Given the description of an element on the screen output the (x, y) to click on. 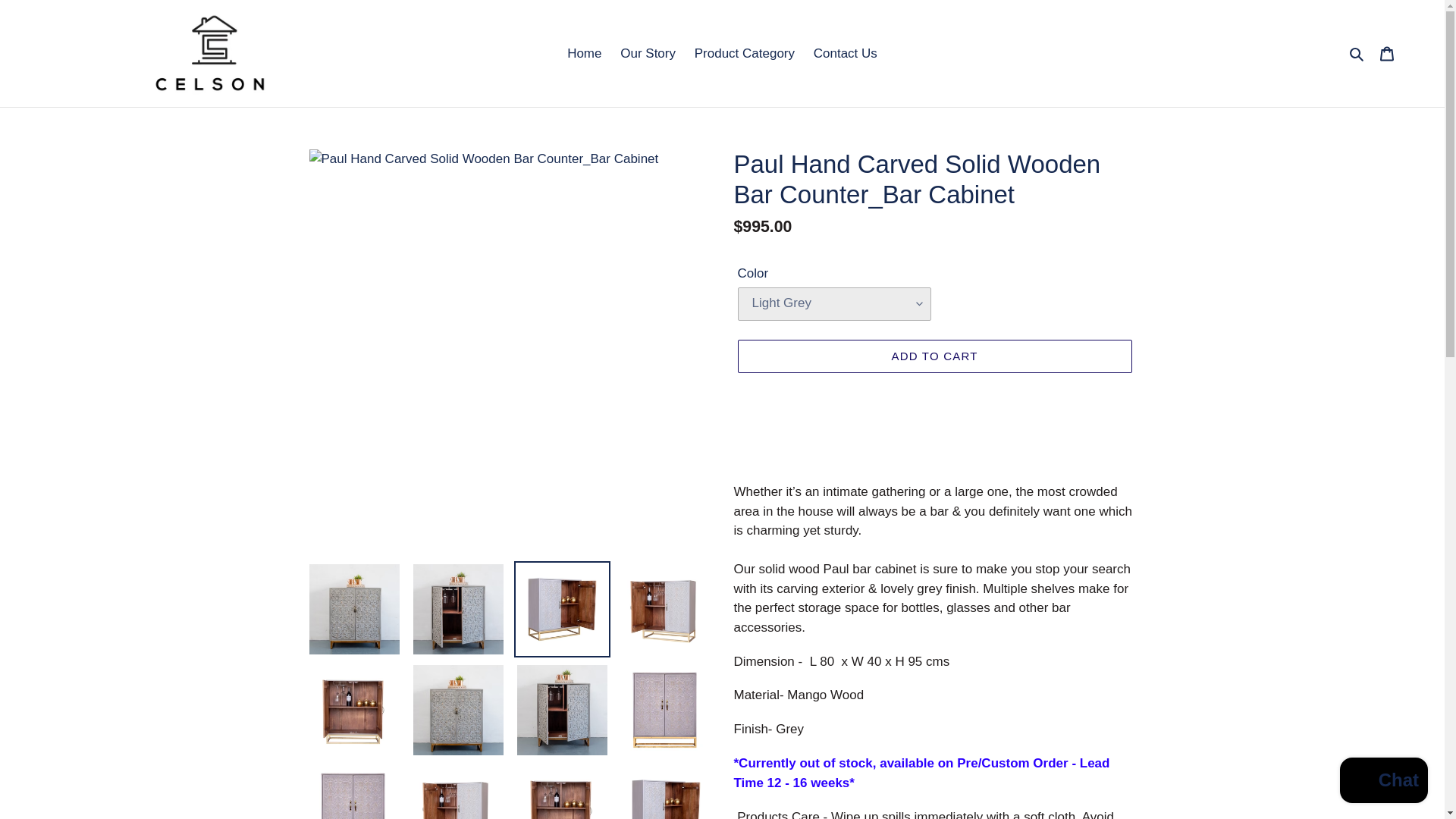
ADD TO CART (933, 356)
Shopify online store chat (1383, 781)
Product Category (744, 53)
Contact Us (845, 53)
Search (1357, 53)
Cart (1387, 53)
Our Story (647, 53)
Home (583, 53)
